Given the description of an element on the screen output the (x, y) to click on. 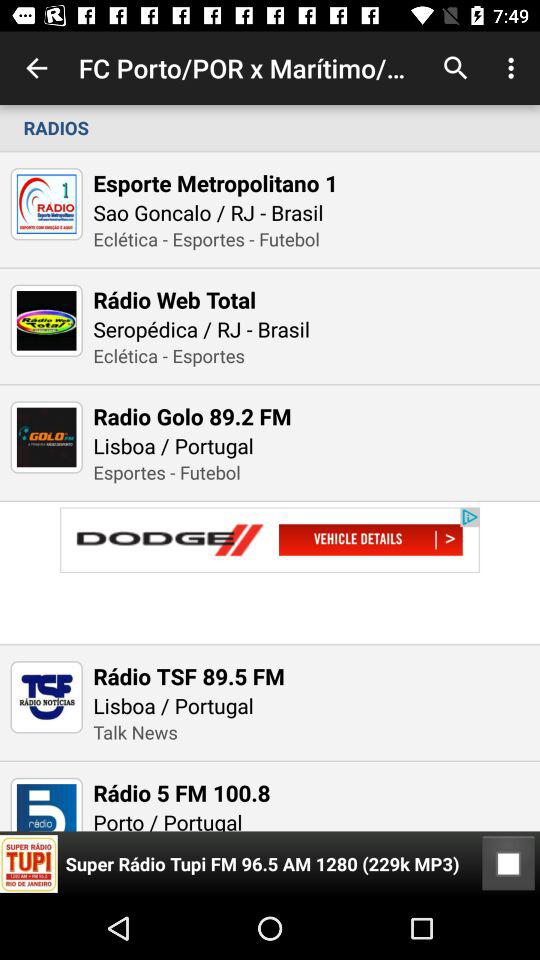
link to advertisement (270, 572)
